Given the description of an element on the screen output the (x, y) to click on. 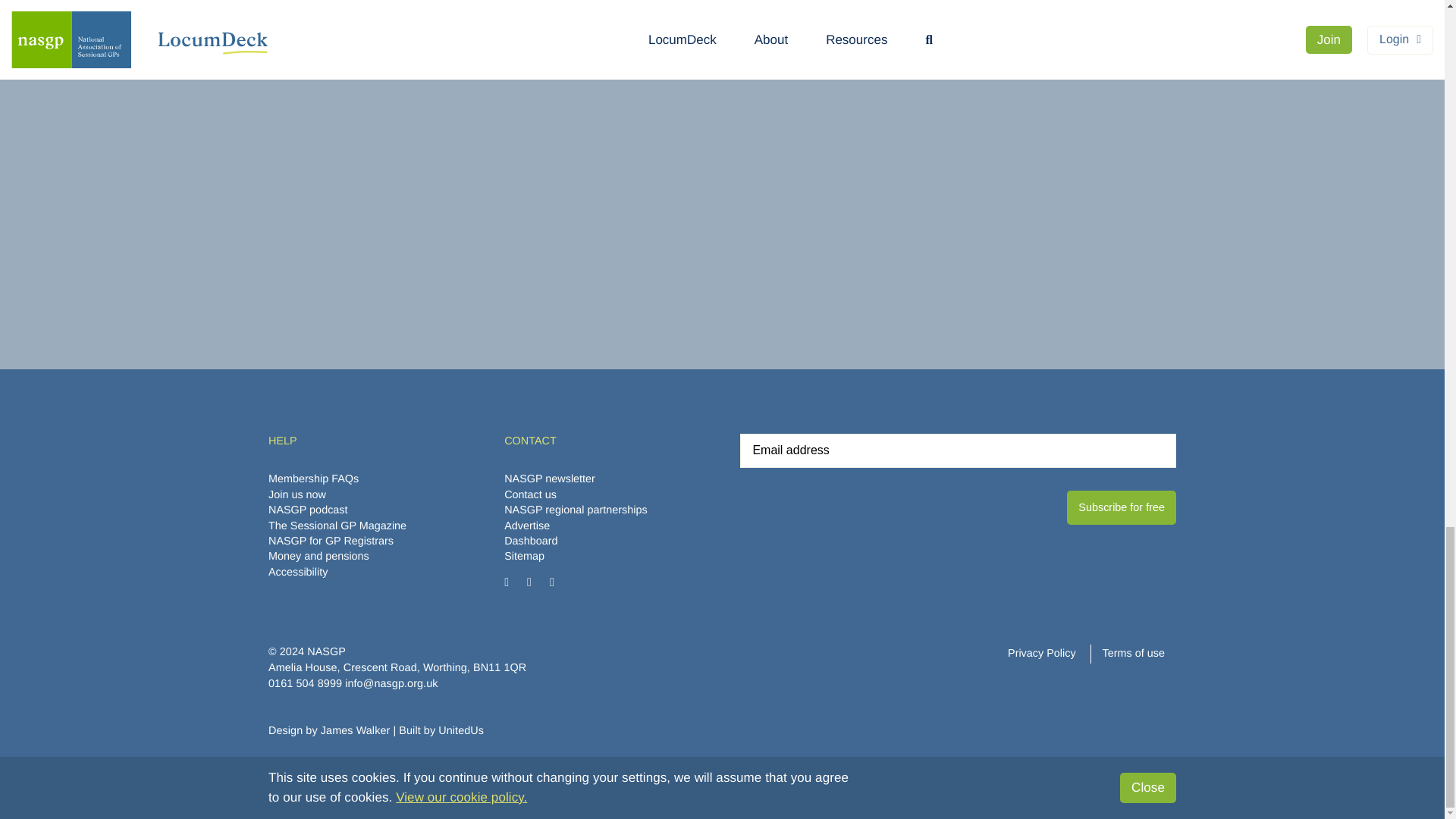
Subscribe for free (1121, 507)
